Given the description of an element on the screen output the (x, y) to click on. 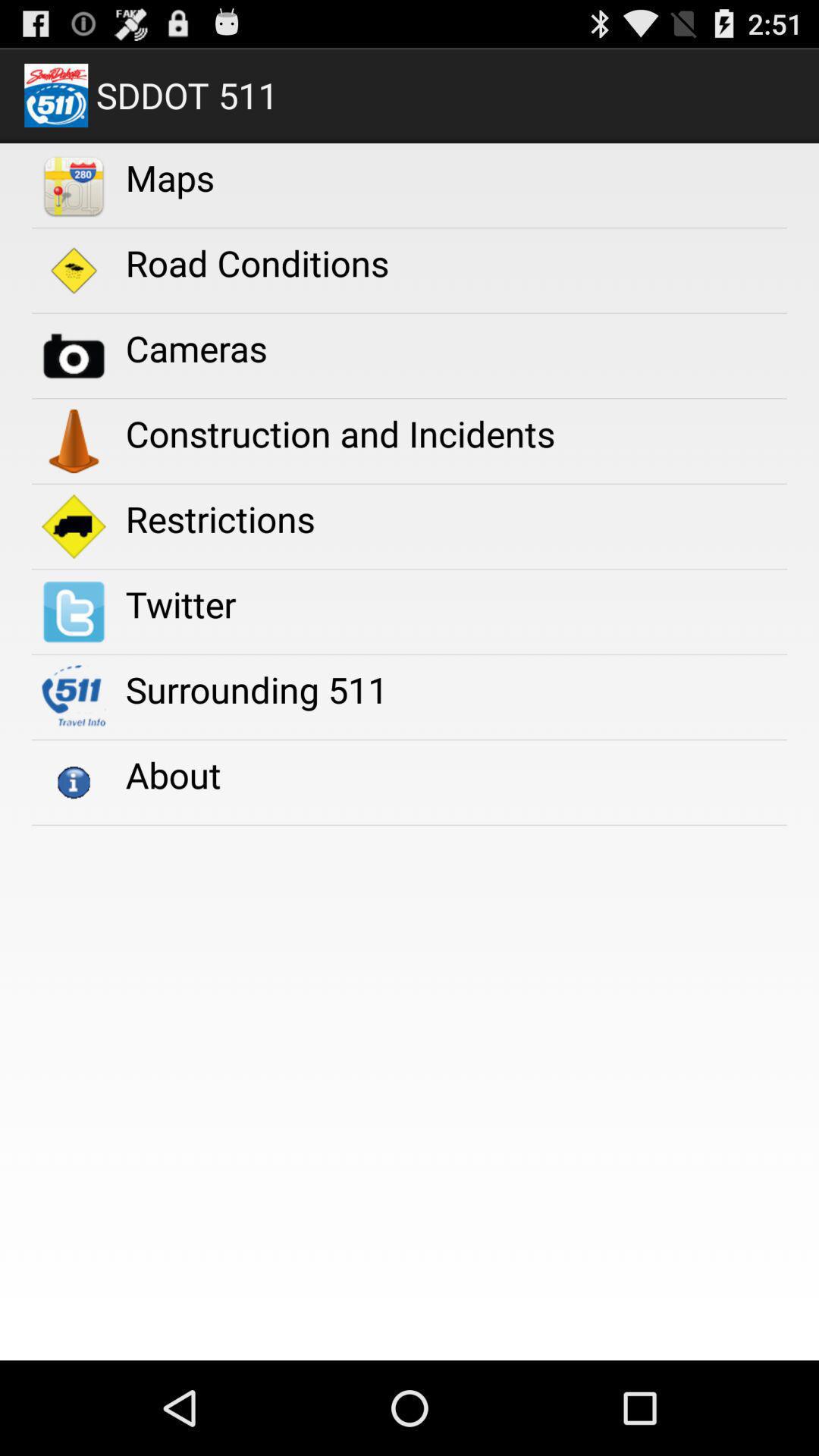
swipe to cameras app (196, 348)
